Given the description of an element on the screen output the (x, y) to click on. 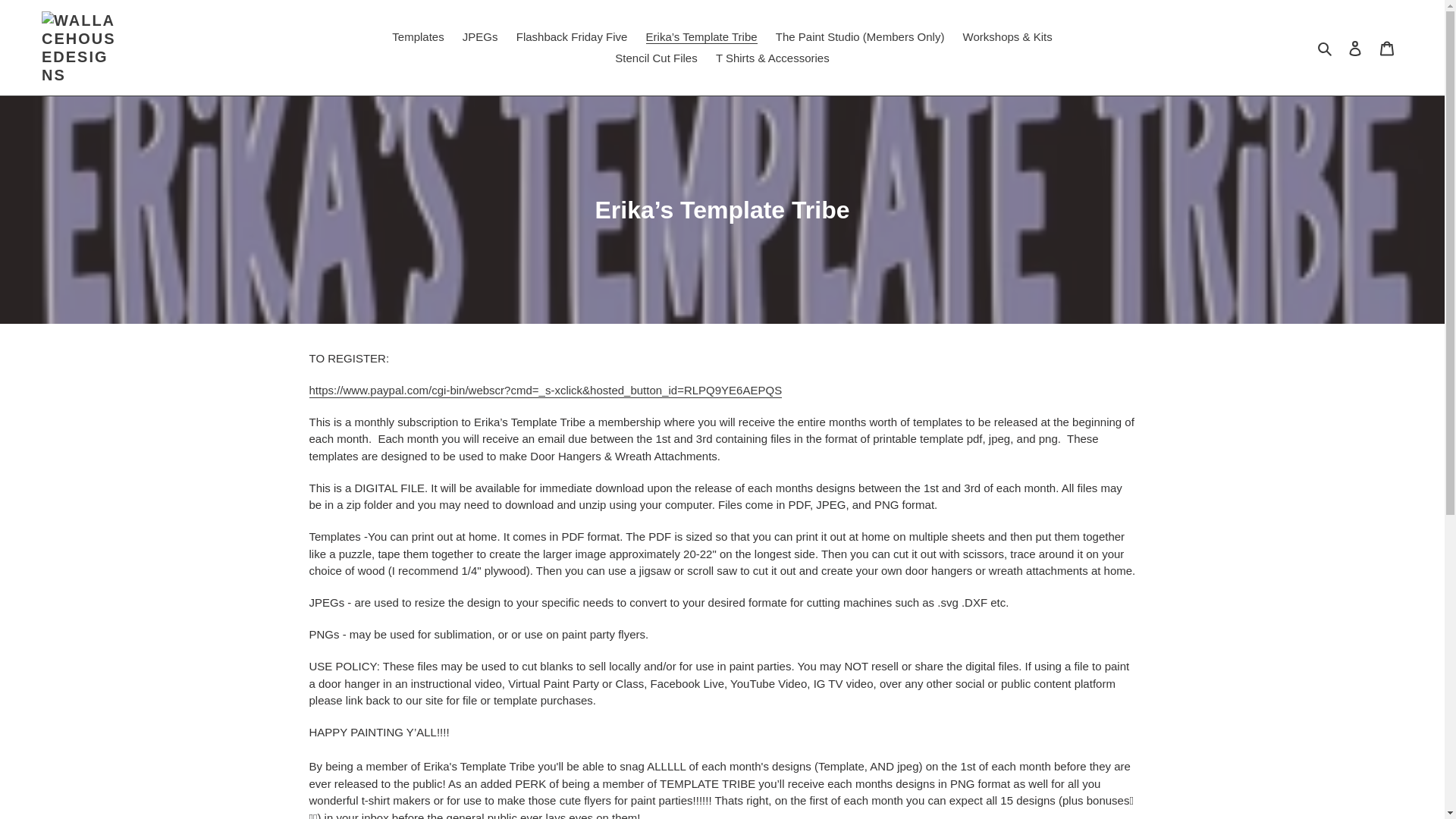
Flashback Friday Five (571, 36)
Stencil Cut Files (655, 58)
Search (1326, 47)
Templates (417, 36)
JPEGs (479, 36)
Cart (1387, 47)
Log in (1355, 47)
